Given the description of an element on the screen output the (x, y) to click on. 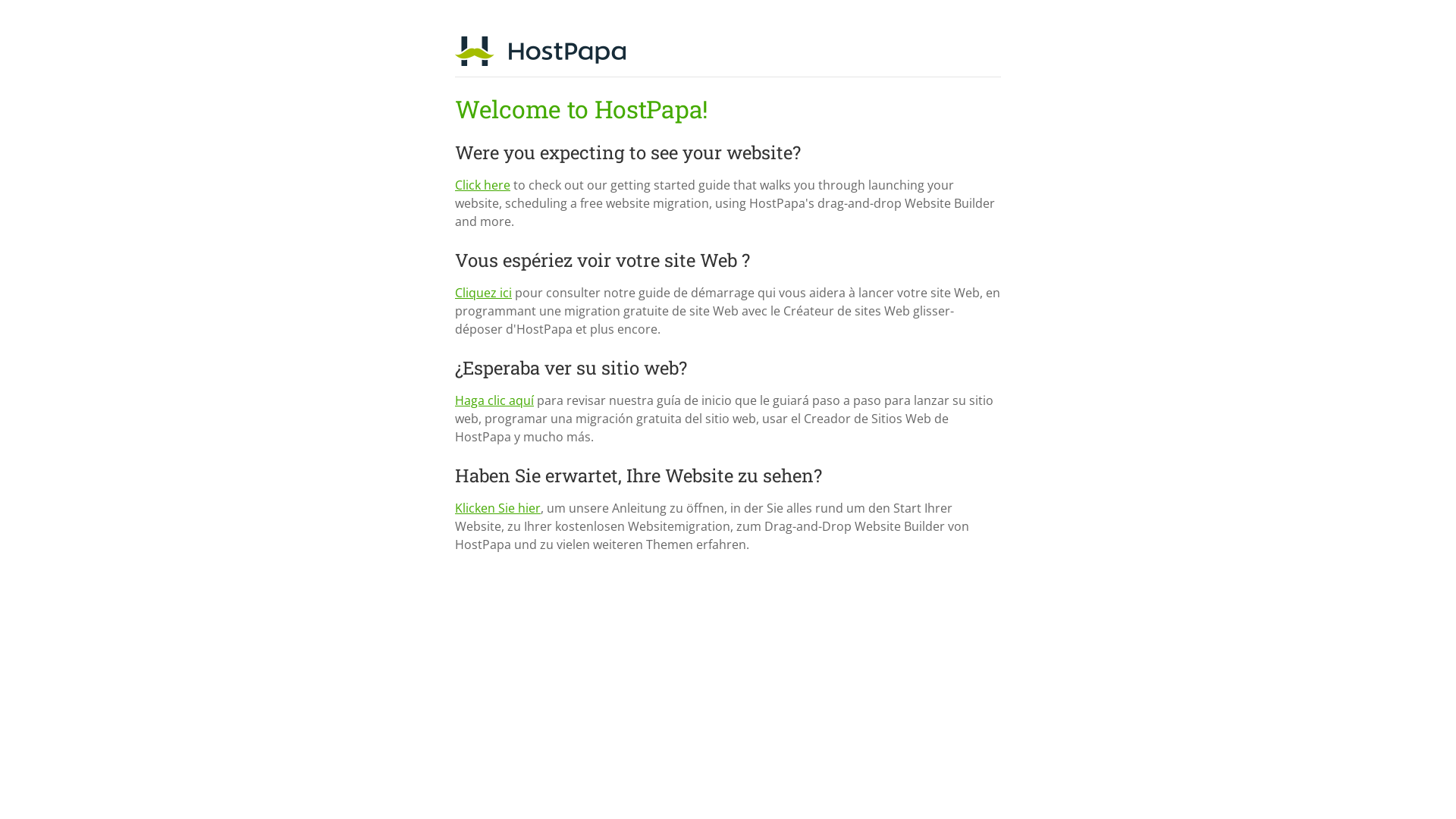
Cliquez ici Element type: text (483, 292)
Click here Element type: text (482, 184)
Klicken Sie hier Element type: text (497, 507)
